Given the description of an element on the screen output the (x, y) to click on. 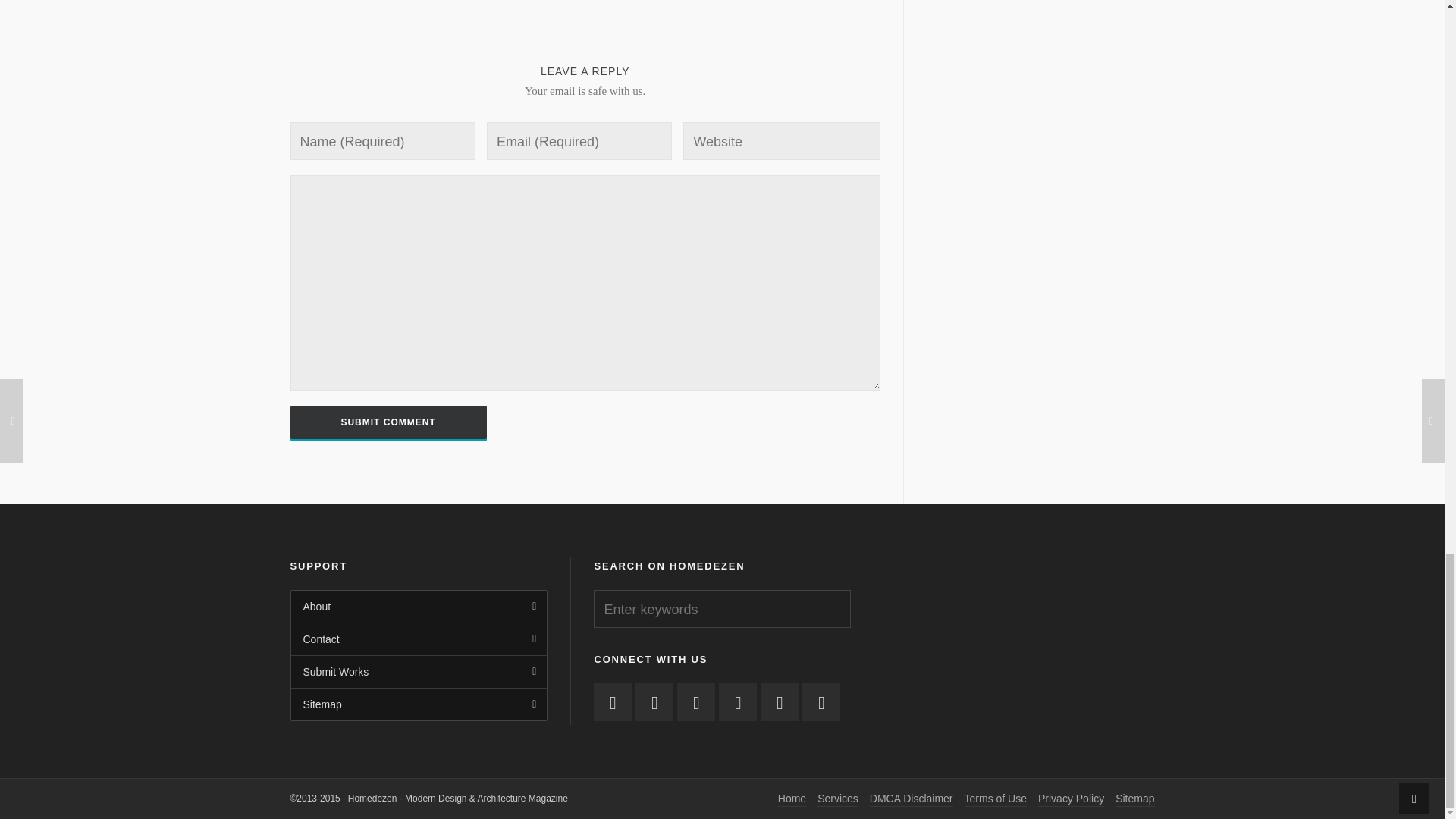
Submit Comment (387, 421)
